Given the description of an element on the screen output the (x, y) to click on. 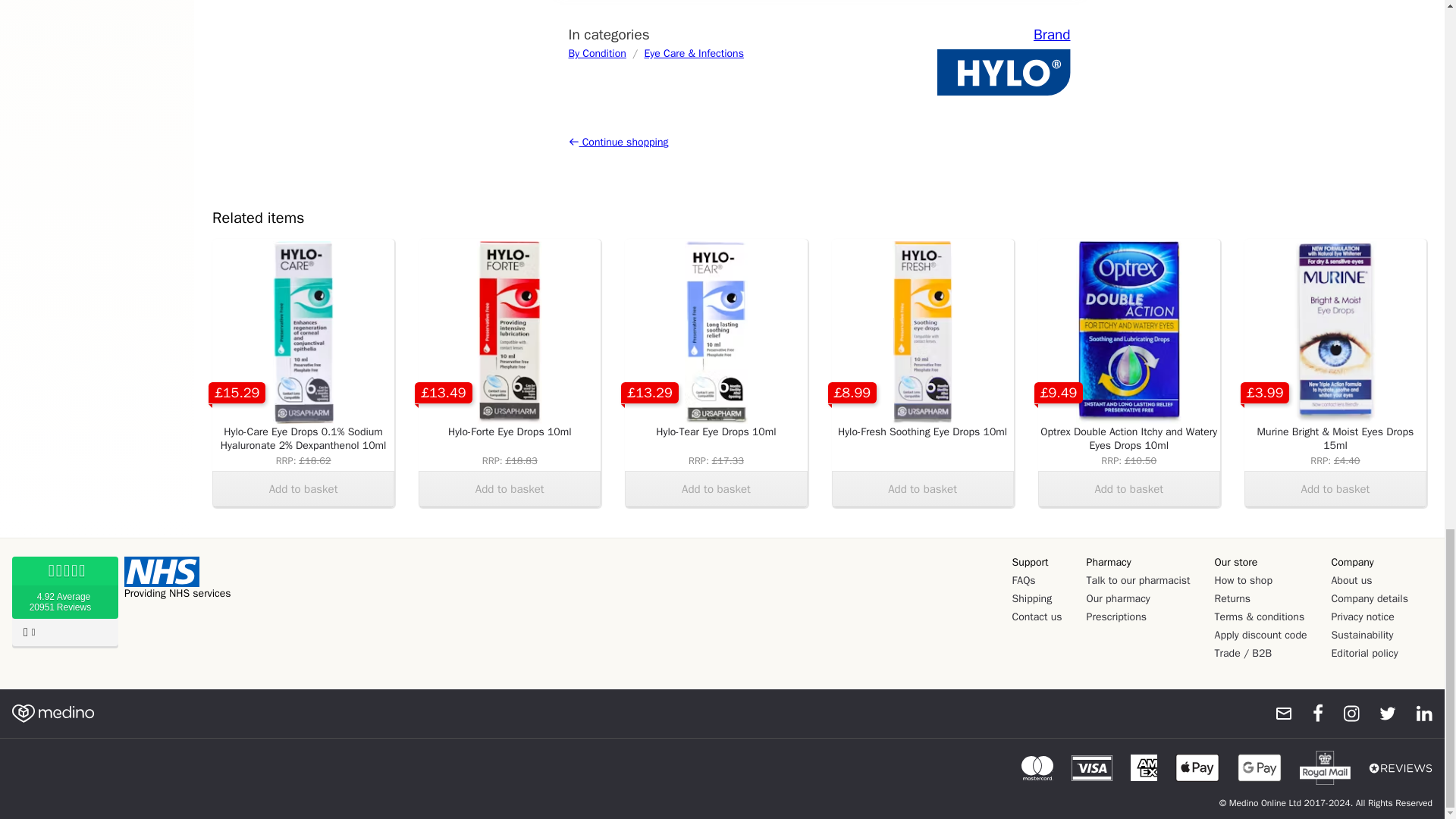
medino on twitter (1380, 713)
medino on instagram (1344, 713)
home (52, 713)
medino on linkedIn (1417, 713)
Reviews Badge Widget (64, 603)
Subscribe to our newsletter (1277, 713)
medino on facebook (1307, 713)
